Given the description of an element on the screen output the (x, y) to click on. 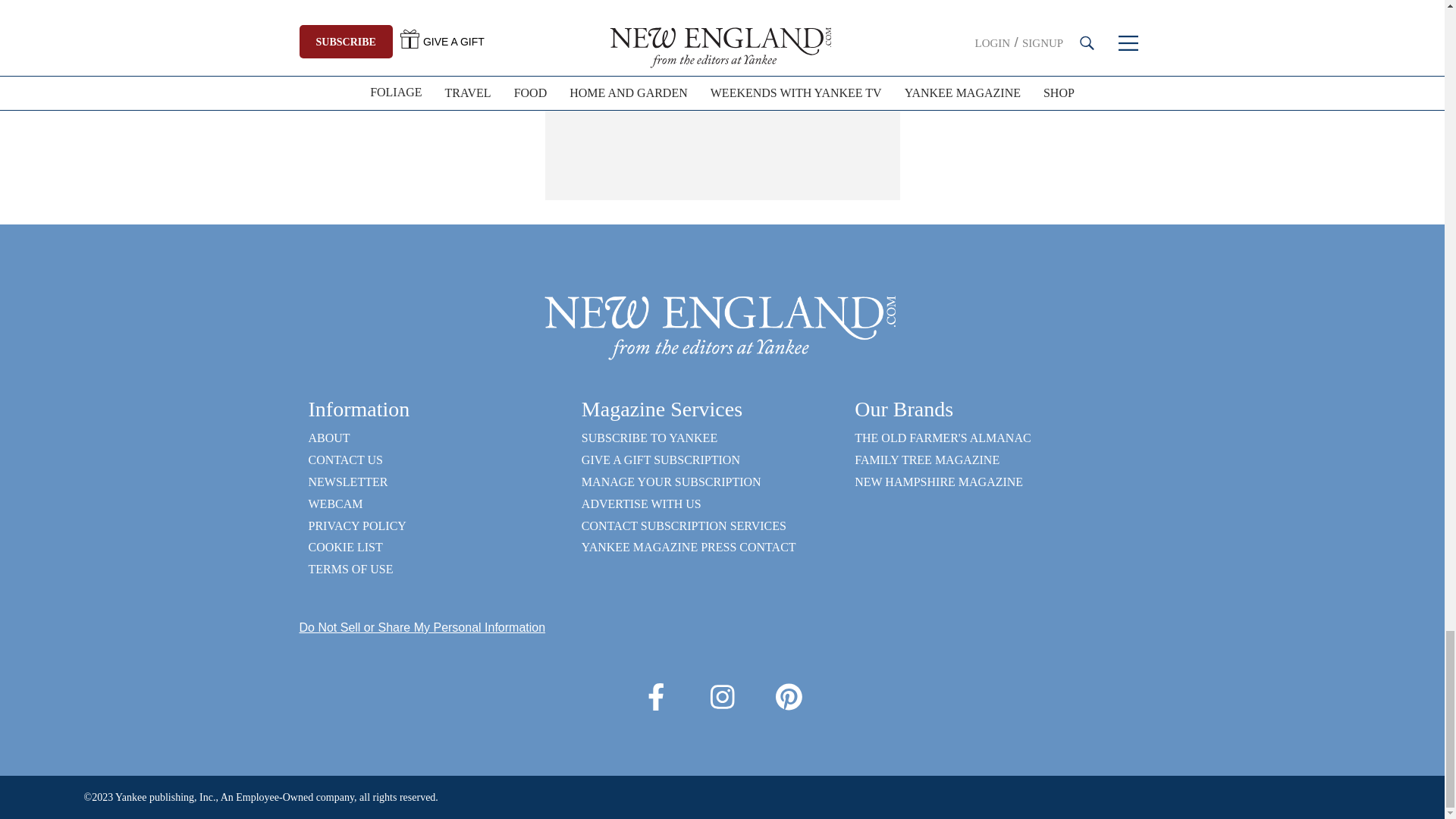
new-england-logo-footer-white (721, 325)
